Given the description of an element on the screen output the (x, y) to click on. 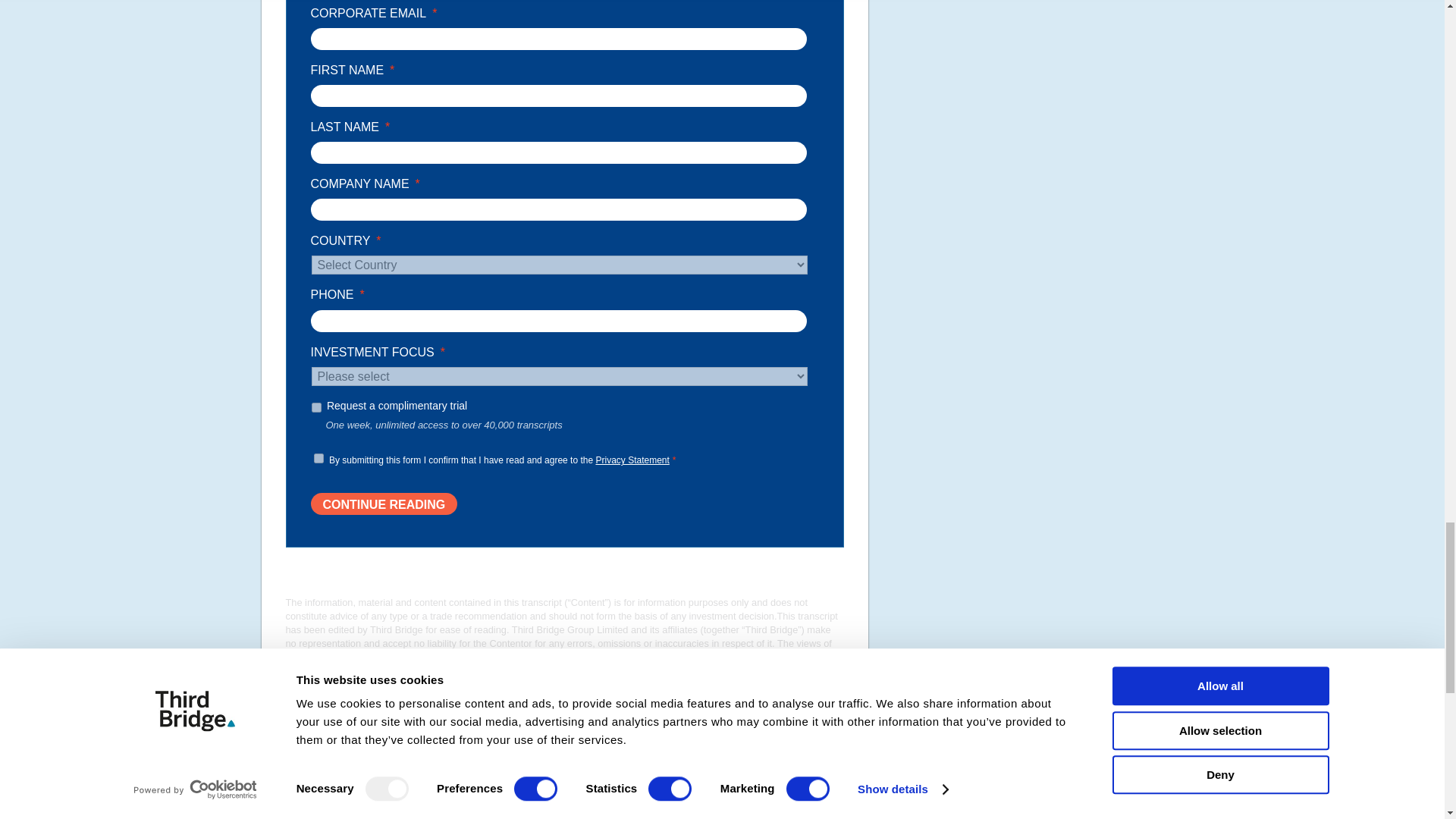
1 (318, 458)
TRUE (315, 407)
Continue Reading (384, 504)
